Given the description of an element on the screen output the (x, y) to click on. 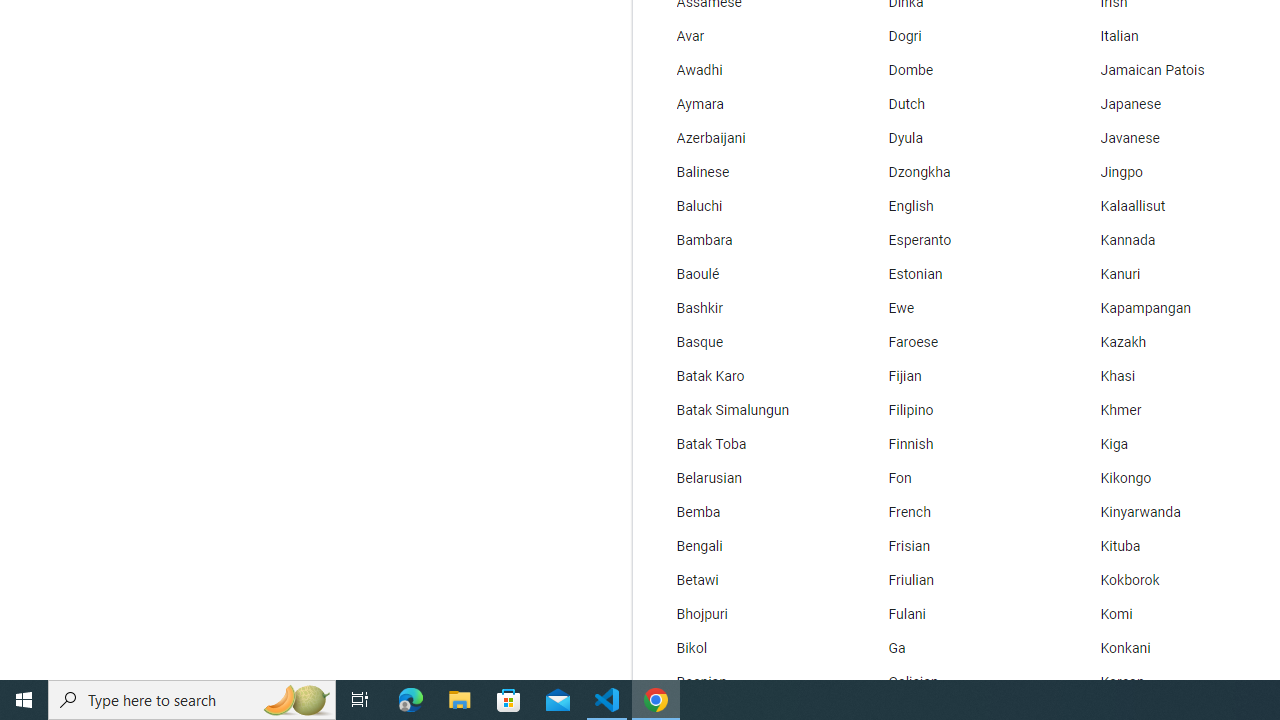
Basque (745, 342)
Kalaallisut (1168, 206)
Kituba (1168, 547)
Bengali (745, 547)
Azerbaijani (745, 138)
Batak Simalungun (745, 410)
Khasi (1168, 376)
Kinyarwanda (1168, 512)
Awadhi (745, 70)
Fon (957, 478)
Faroese (957, 342)
Friulian (957, 580)
Aymara (745, 104)
Kiga (1168, 444)
Ga (957, 648)
